Given the description of an element on the screen output the (x, y) to click on. 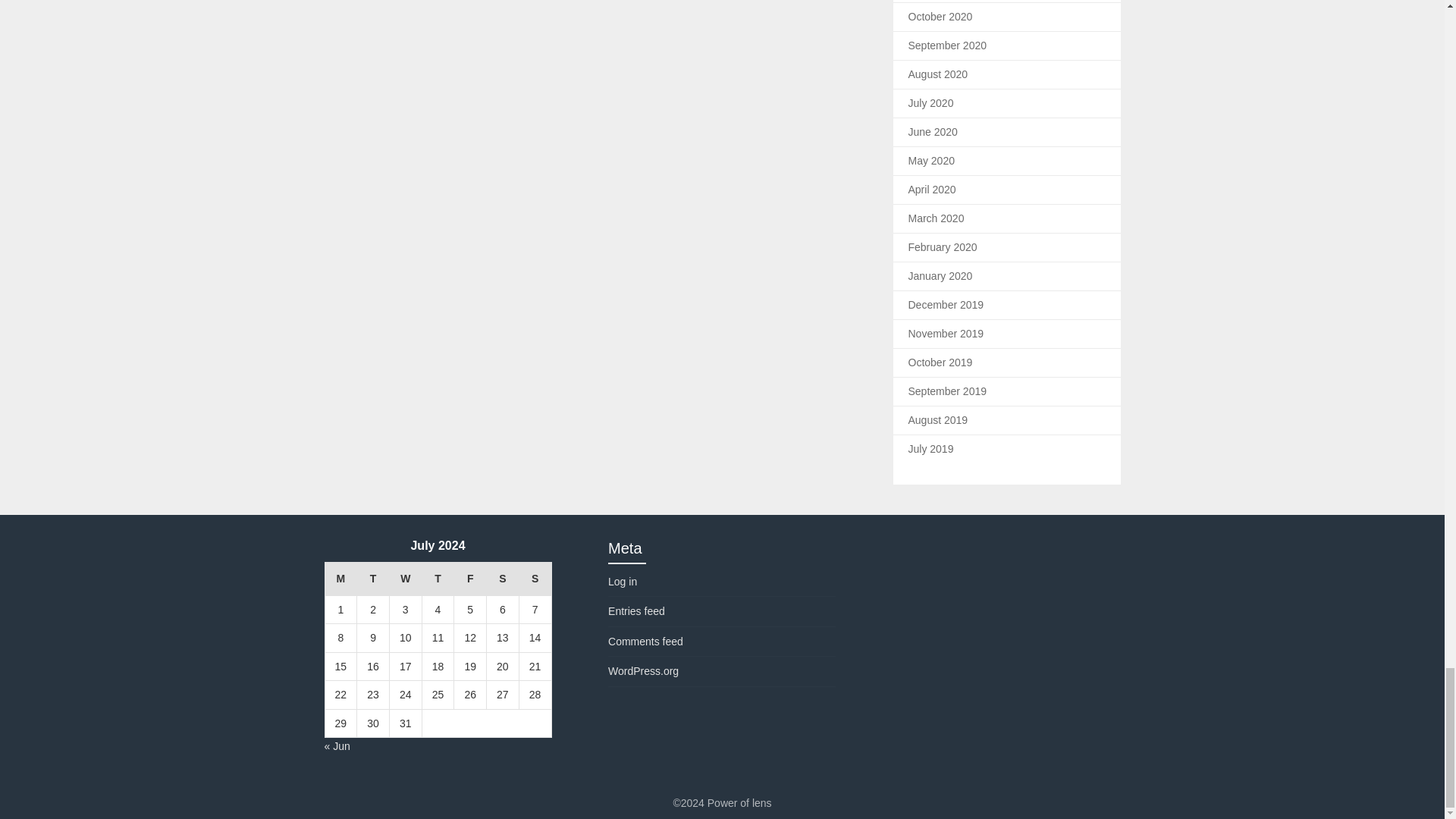
Tuesday (373, 579)
Friday (470, 579)
Saturday (502, 579)
Monday (340, 579)
Wednesday (405, 579)
Sunday (534, 579)
Thursday (438, 579)
